Given the description of an element on the screen output the (x, y) to click on. 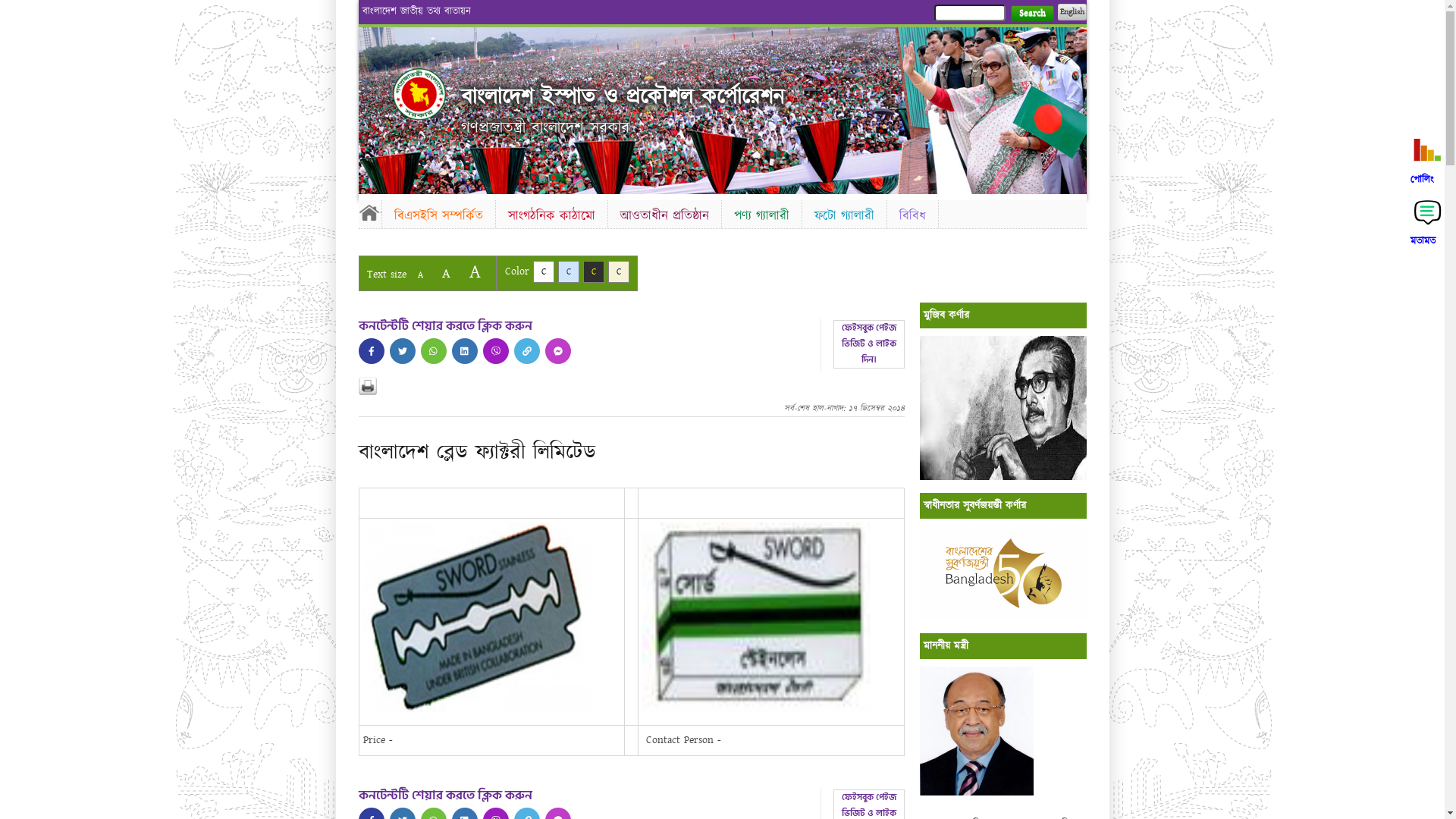
English Element type: text (1071, 11)
C Element type: text (542, 271)
Home Element type: hover (418, 93)
Search Element type: text (1031, 13)
A Element type: text (474, 271)
Home Element type: hover (368, 211)
A Element type: text (445, 273)
C Element type: text (592, 271)
C Element type: text (568, 271)
C Element type: text (618, 271)
A Element type: text (419, 274)
